Given the description of an element on the screen output the (x, y) to click on. 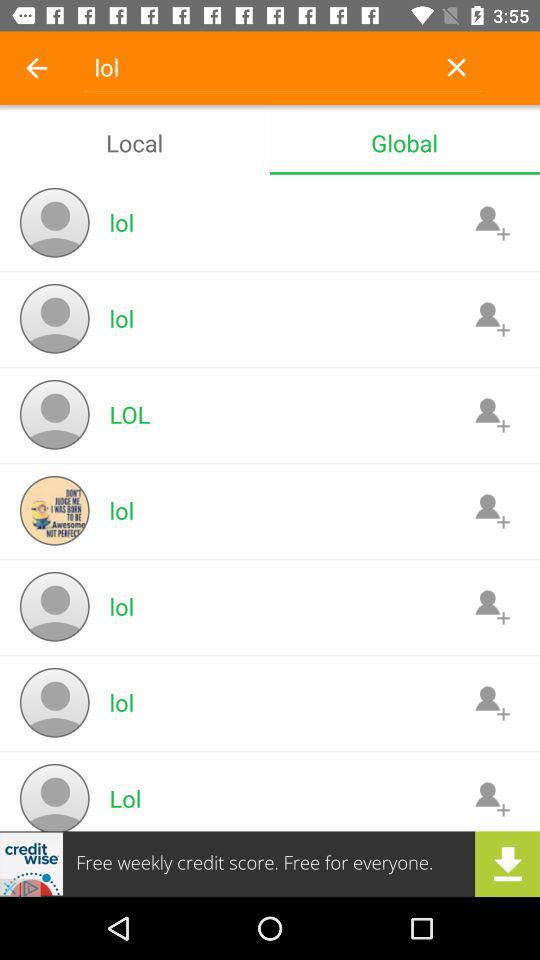
contact (492, 510)
